Given the description of an element on the screen output the (x, y) to click on. 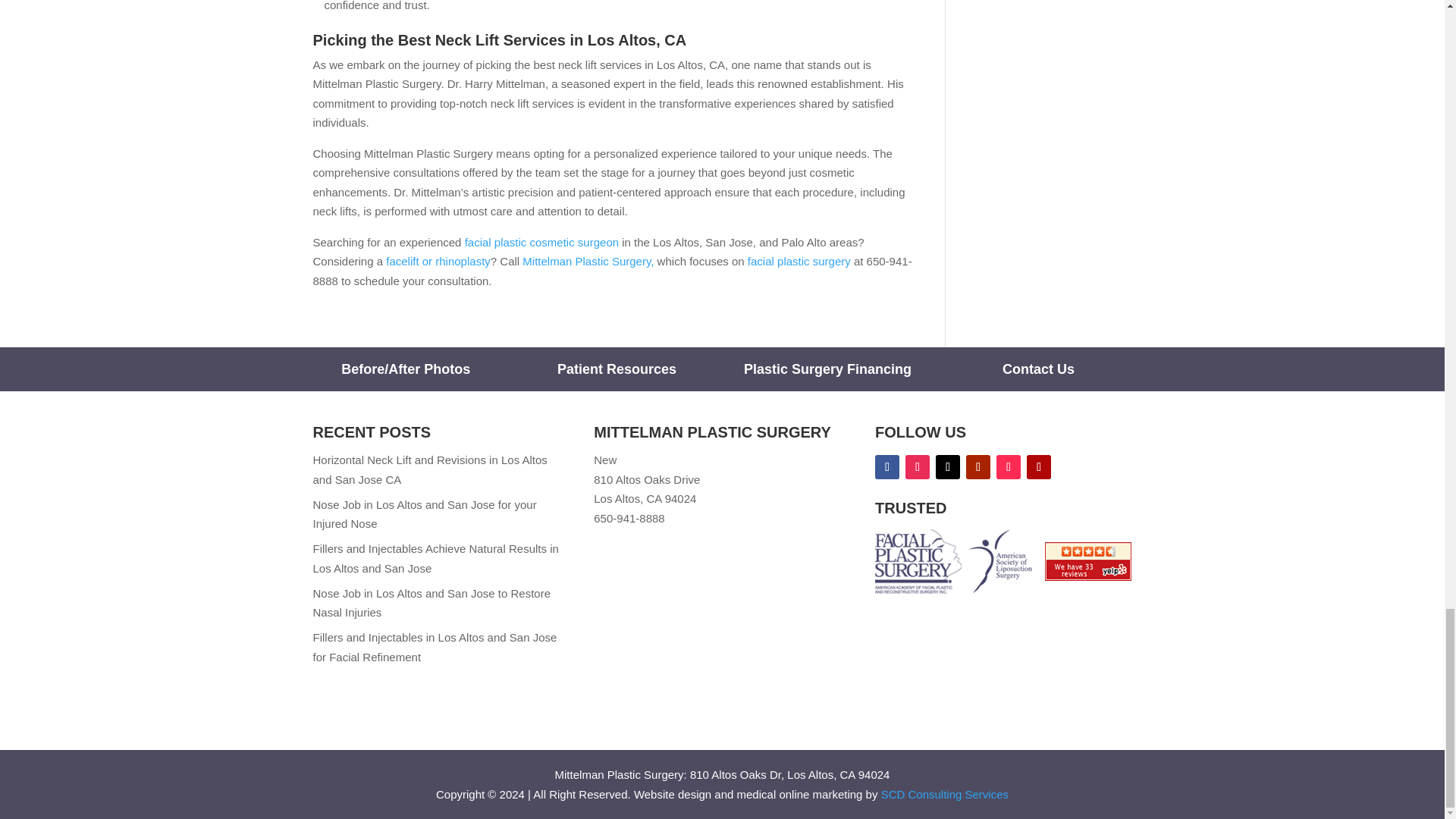
Follow on Youtube (978, 467)
Patient Resources (617, 368)
SCD Consulting Services (944, 793)
Plastic Surgery Financing (827, 368)
facial plastic surgery (799, 260)
Contact Us (1038, 368)
facial plastic cosmetic surgeon (541, 241)
Follow on Yelp (1038, 467)
Nose Job in Los Altos and San Jose to Restore Nasal Injuries (431, 603)
Follow on Facebook (887, 467)
Mittelman Plastic Surgery, (587, 260)
Nose Job in Los Altos and San Jose for your Injured Nose (424, 513)
facelift or rhinoplasty (437, 260)
Follow on X (947, 467)
